Given the description of an element on the screen output the (x, y) to click on. 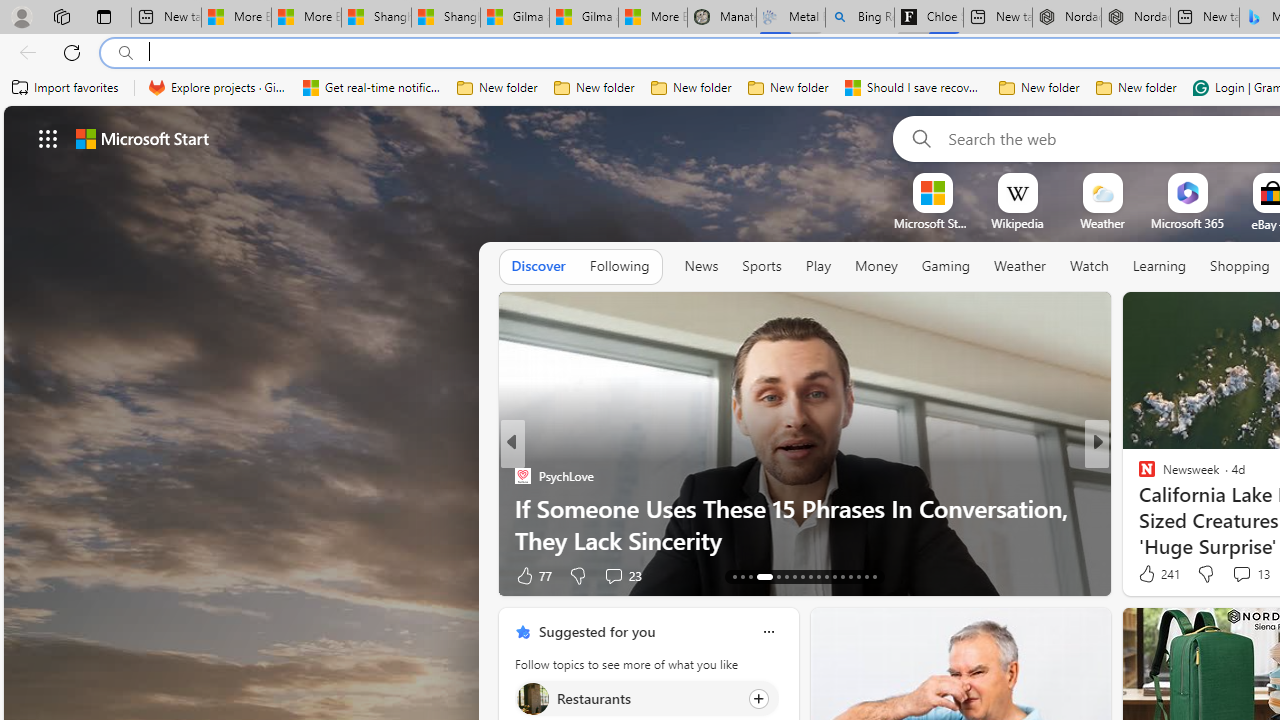
Should I save recovered Word documents? - Microsoft Support (913, 88)
View comments 42 Comment (1229, 575)
AutomationID: tab-13 (733, 576)
View comments 49 Comment (1234, 575)
WMN Lives (1138, 475)
View comments 102 Comment (619, 575)
Mythbusting 101: 18 Myths Dispelled by Scientific Evidence (804, 523)
